Given the description of an element on the screen output the (x, y) to click on. 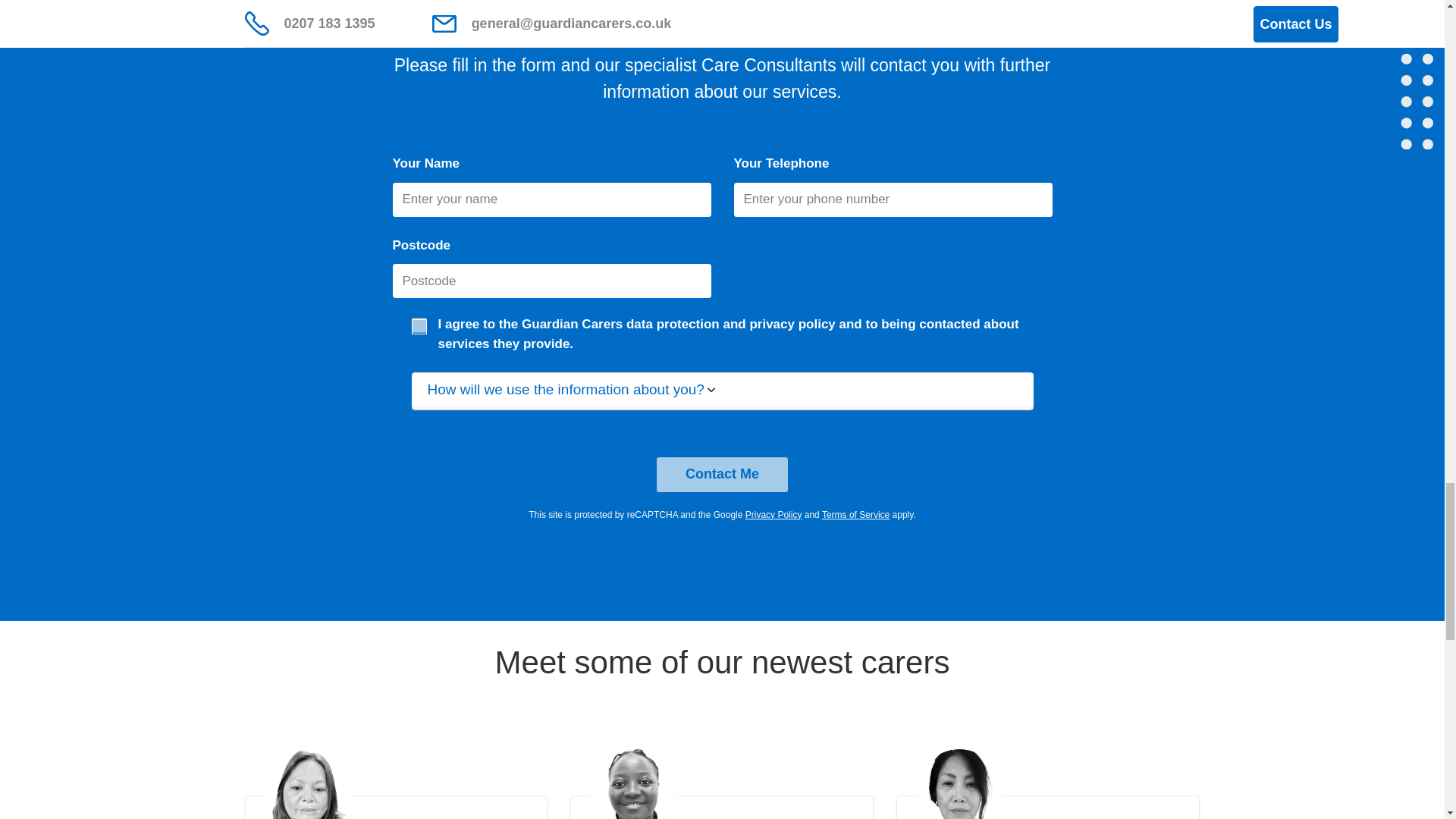
Contact Me (722, 474)
accept (418, 324)
Terms of Service (855, 514)
How will we use the information about you? (722, 390)
Privacy Policy (773, 514)
data protection and privacy policy (730, 323)
